Given the description of an element on the screen output the (x, y) to click on. 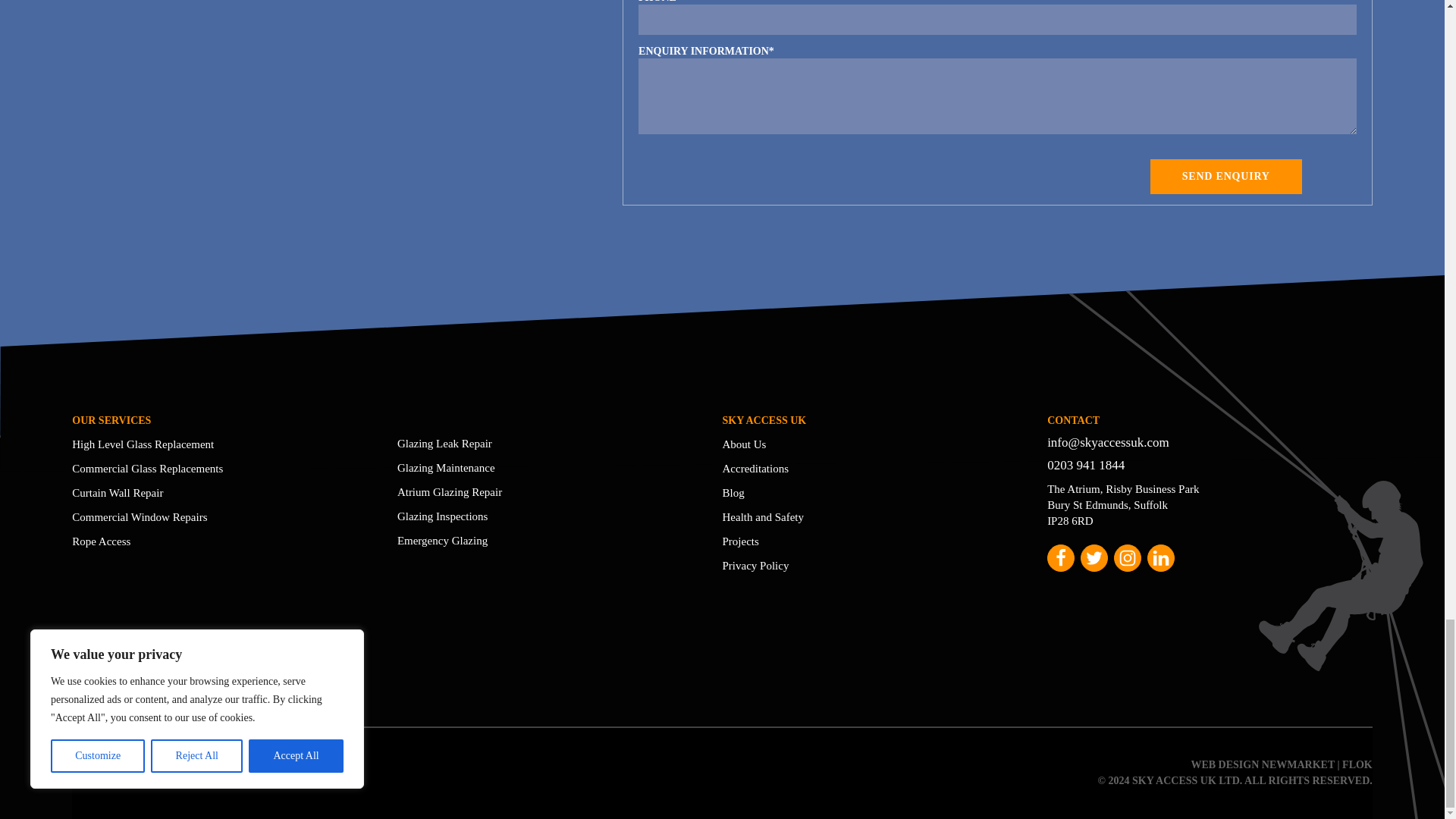
Send Enquiry (1225, 176)
